Given the description of an element on the screen output the (x, y) to click on. 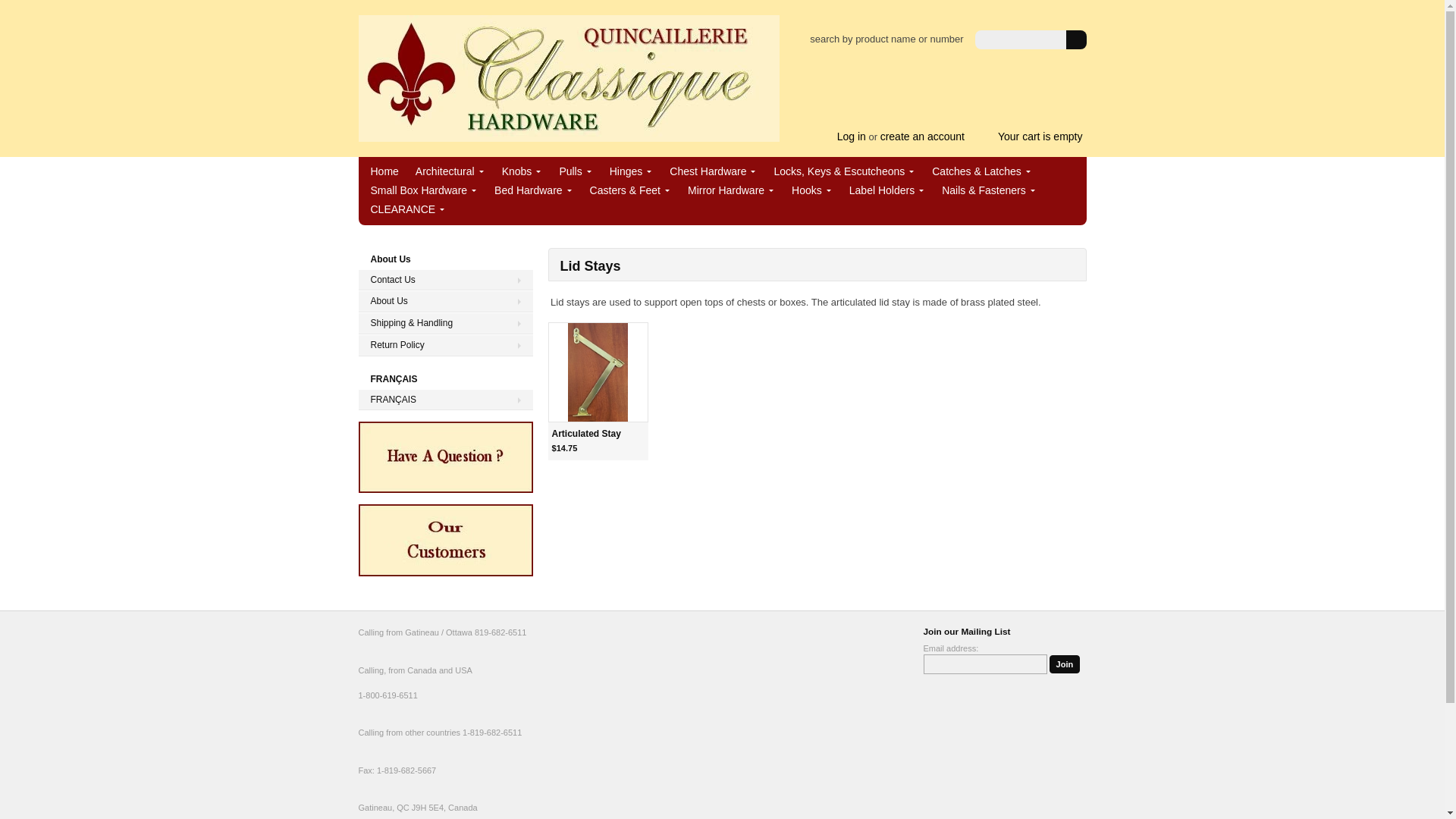
Search (1075, 39)
Log in (851, 136)
create an account (921, 136)
Your cart is empty (1032, 136)
Join (1064, 664)
Home (384, 171)
Return Policy  (445, 345)
About Us (445, 301)
Search (1075, 39)
Contact Us (445, 280)
